Given the description of an element on the screen output the (x, y) to click on. 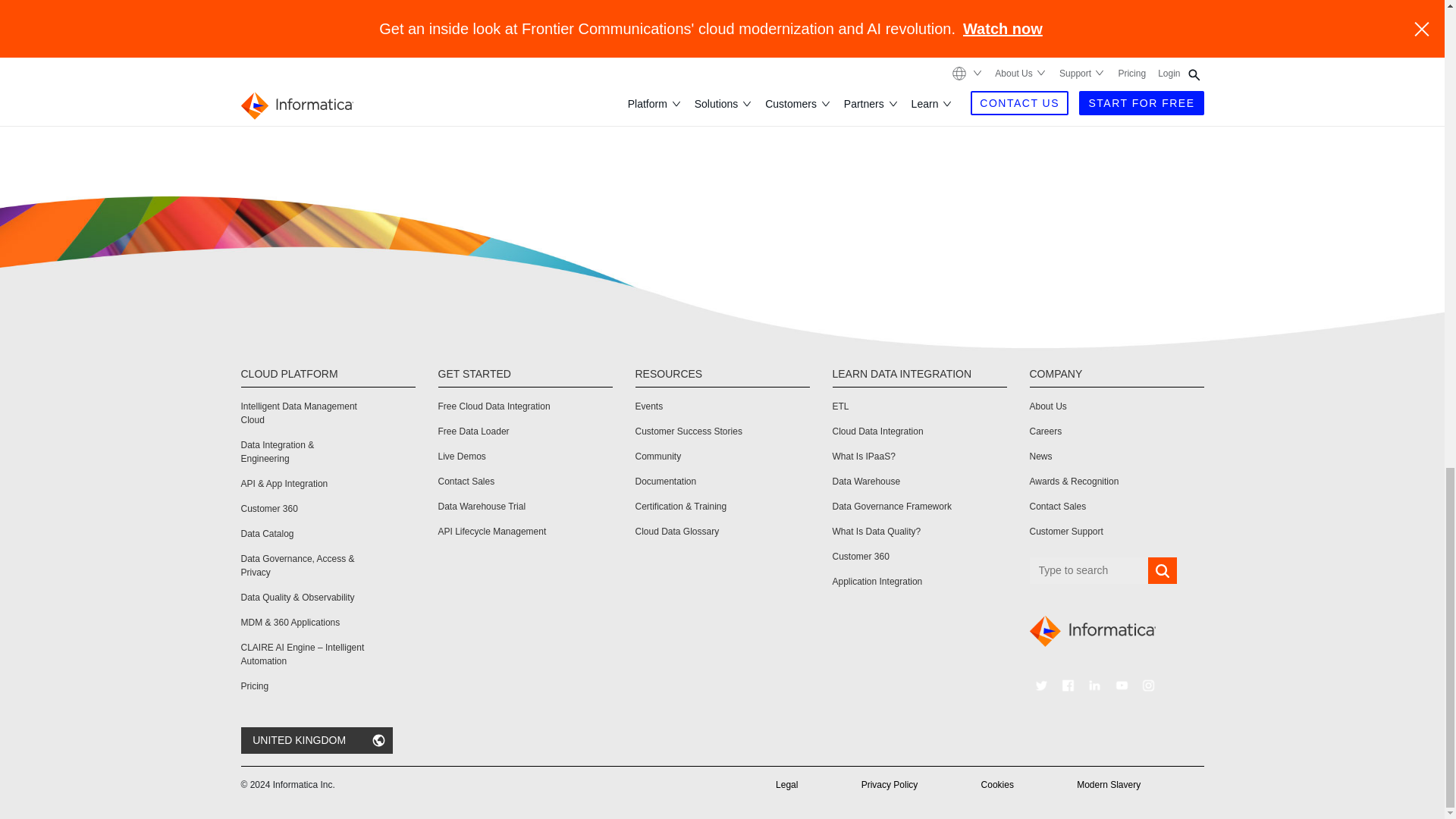
Search (1162, 571)
Insert a query. Press enter to send (1088, 570)
